Given the description of an element on the screen output the (x, y) to click on. 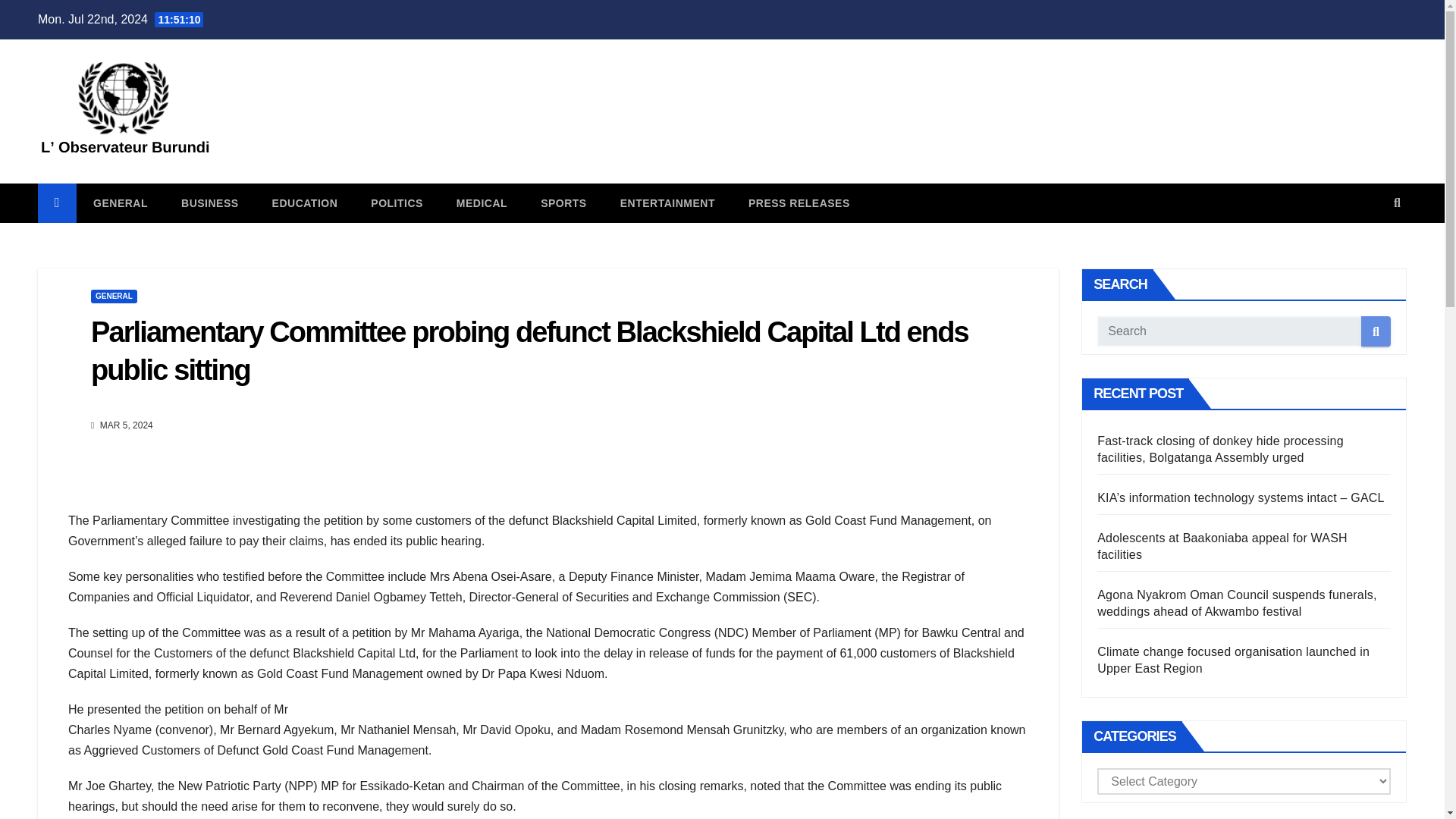
Sports (564, 202)
Education (305, 202)
Entertainment (668, 202)
GENERAL (113, 296)
ENTERTAINMENT (668, 202)
Medical (481, 202)
Press Releases (799, 202)
EDUCATION (305, 202)
POLITICS (396, 202)
SPORTS (564, 202)
PRESS RELEASES (799, 202)
Politics (396, 202)
